Given the description of an element on the screen output the (x, y) to click on. 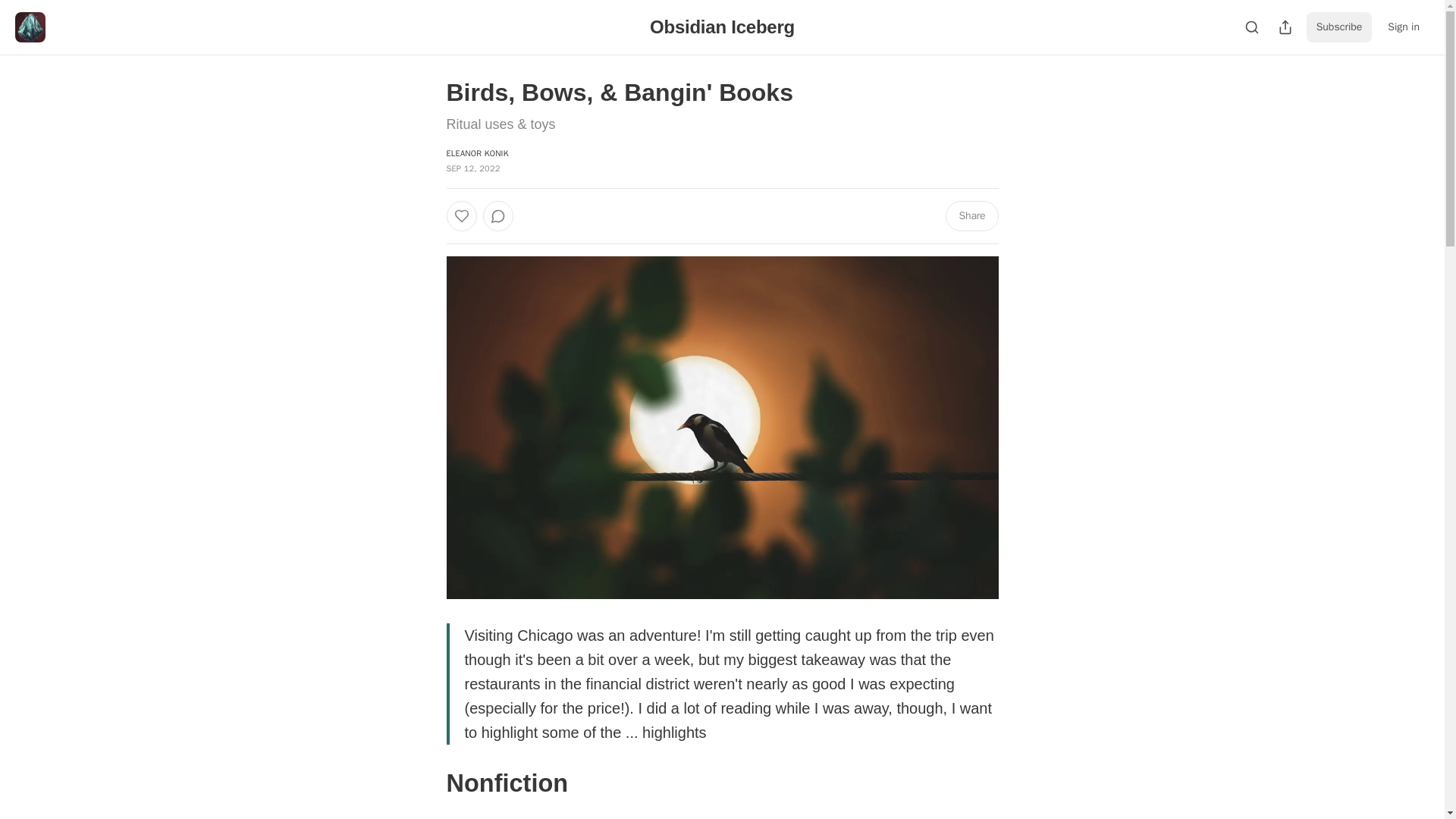
Sign in (1403, 27)
ELEANOR KONIK (476, 153)
Share (970, 215)
Subscribe (1339, 27)
Obsidian Iceberg (721, 26)
